Given the description of an element on the screen output the (x, y) to click on. 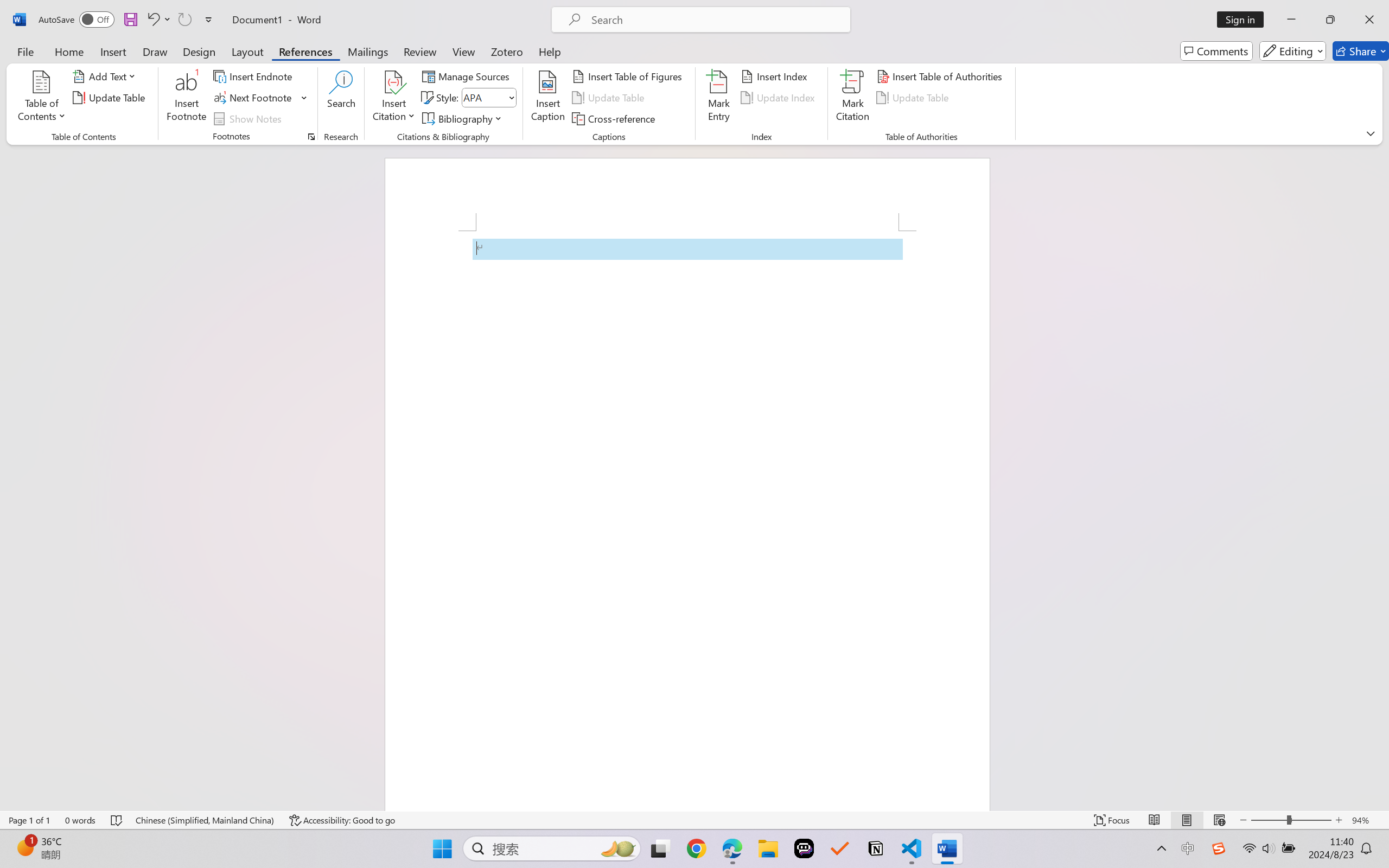
Table of Contents (42, 97)
Mark Citation... (852, 97)
Can't Repeat (184, 19)
Next Footnote (260, 97)
Insert Footnote (186, 97)
Editing (1292, 50)
